Given the description of an element on the screen output the (x, y) to click on. 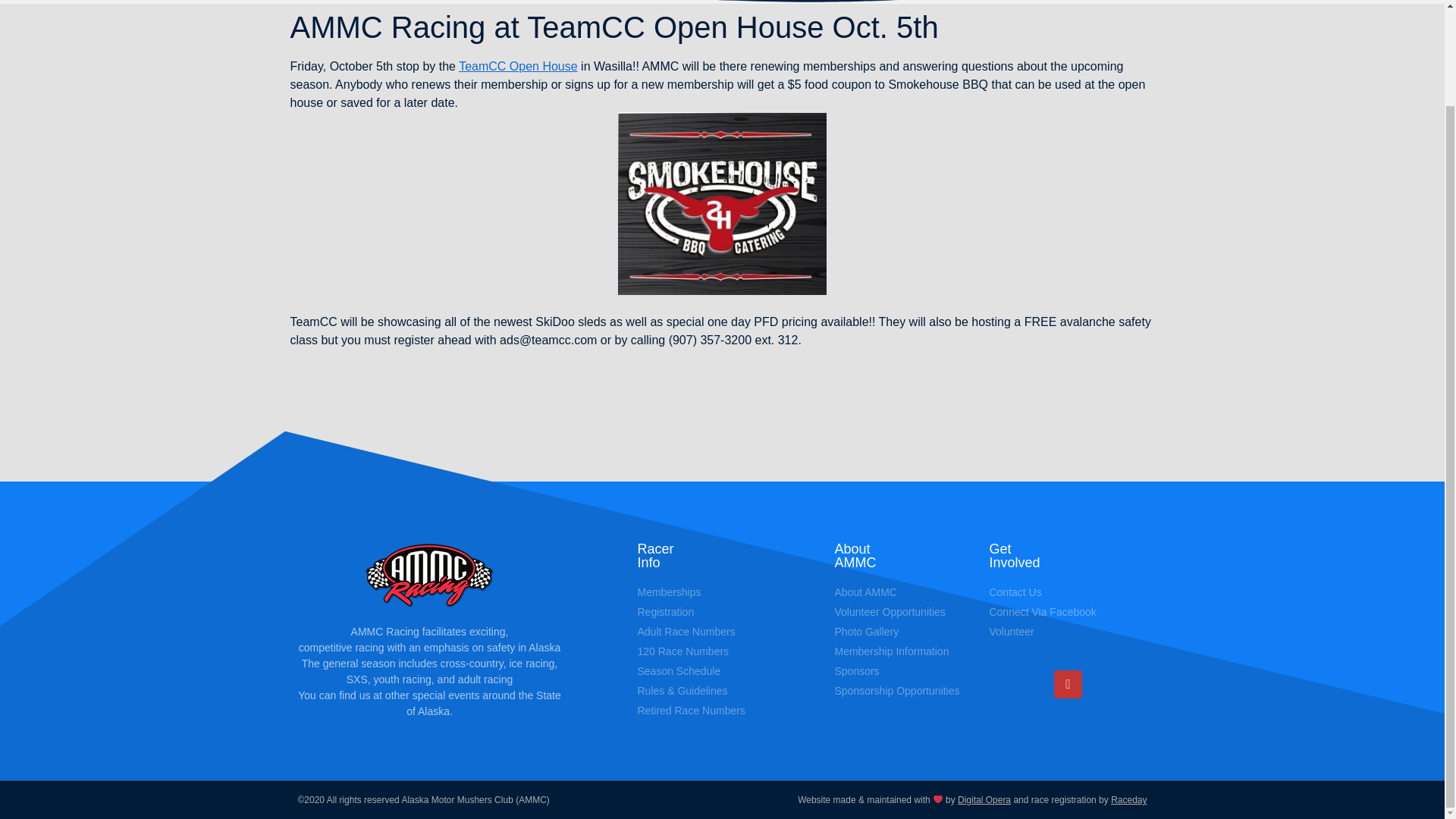
TeamCC Open House (518, 65)
